Given the description of an element on the screen output the (x, y) to click on. 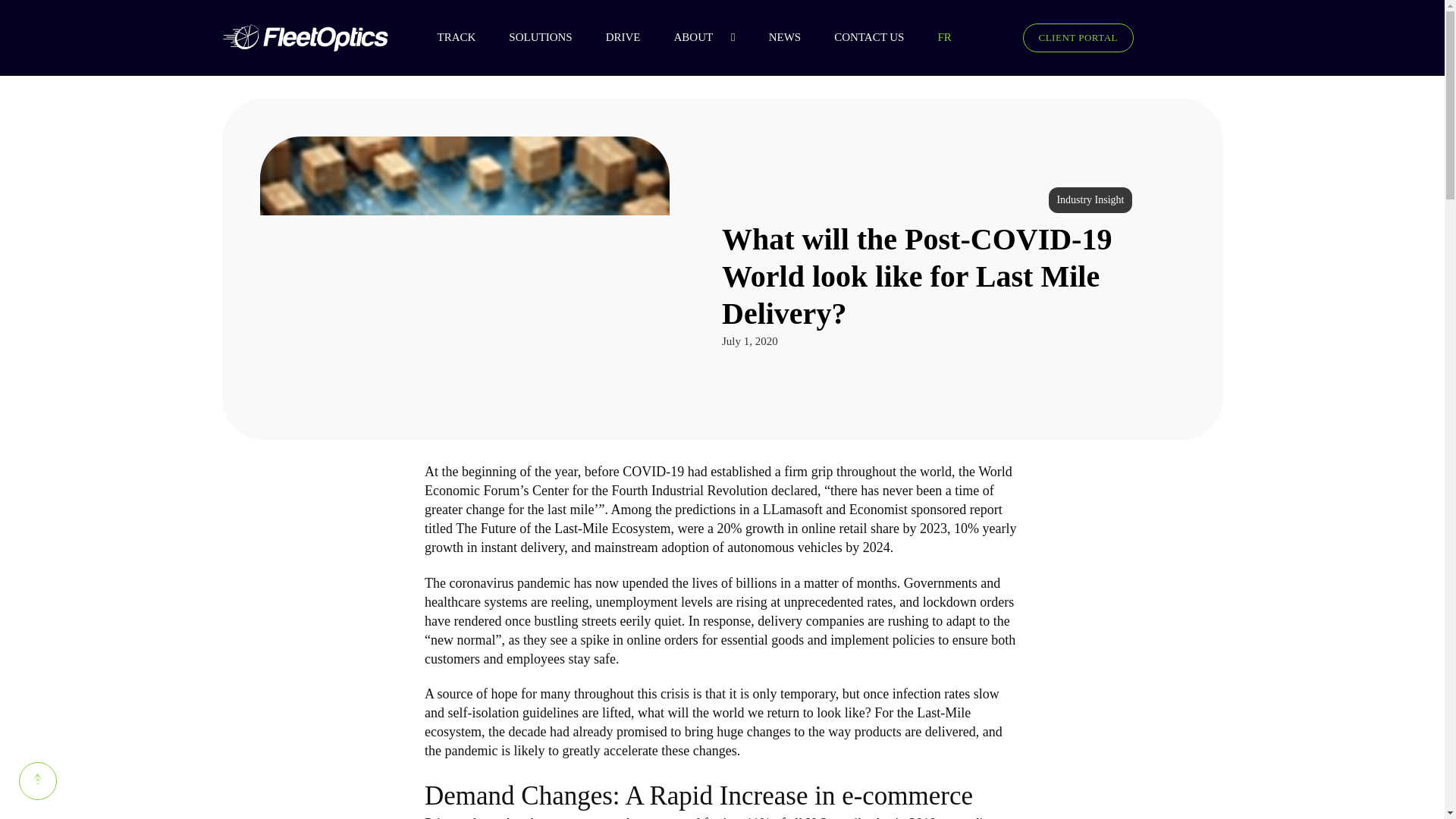
DRIVE (632, 37)
TRACK (464, 37)
ABOUT (703, 37)
CONTACT US (877, 37)
SOLUTIONS (548, 37)
FR (953, 37)
NEWS (793, 37)
